Given the description of an element on the screen output the (x, y) to click on. 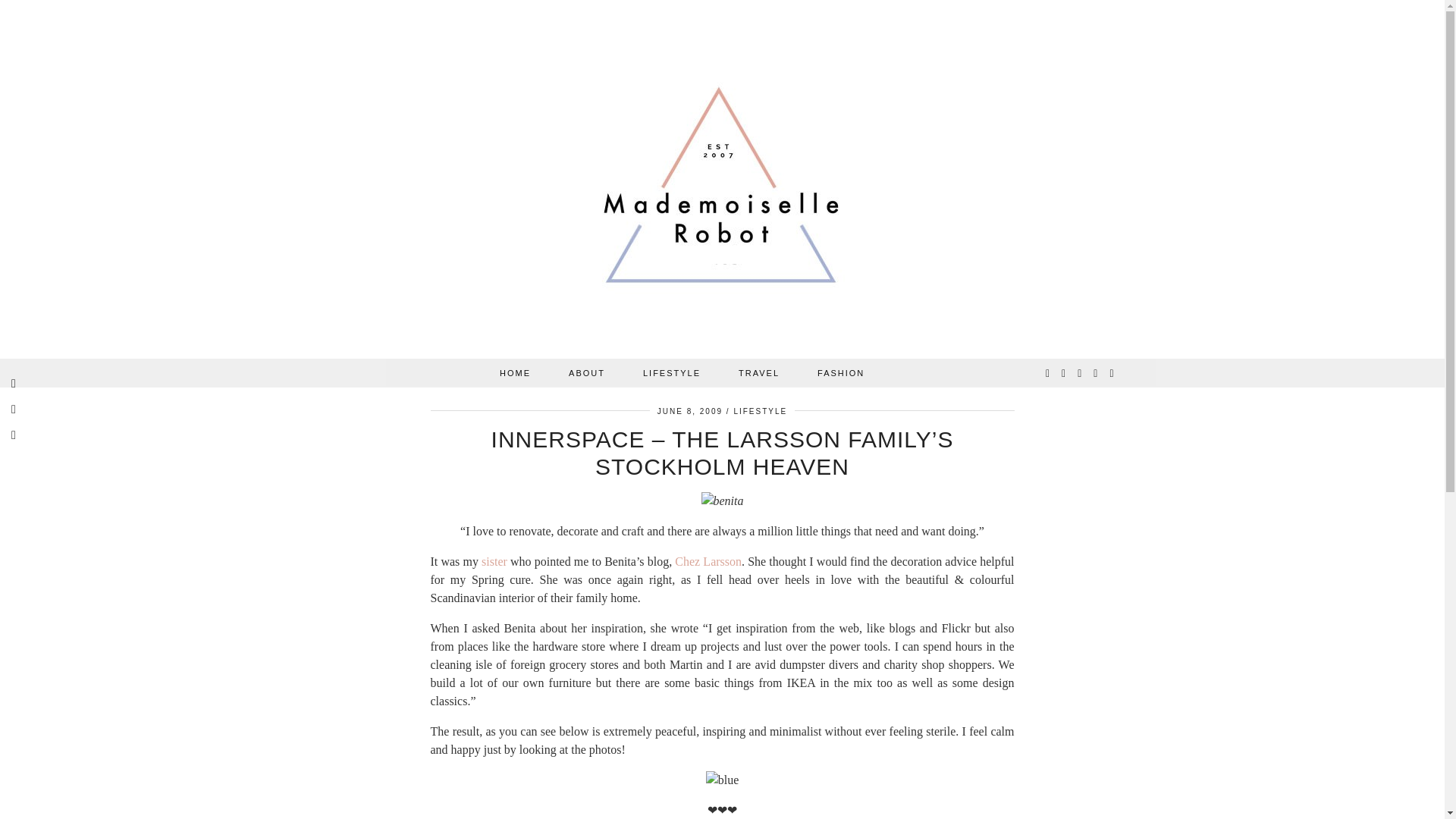
Facebook (1096, 372)
Email (1112, 372)
Twitter (1048, 372)
Pinterest (1080, 372)
Instagram (1064, 372)
